Given the description of an element on the screen output the (x, y) to click on. 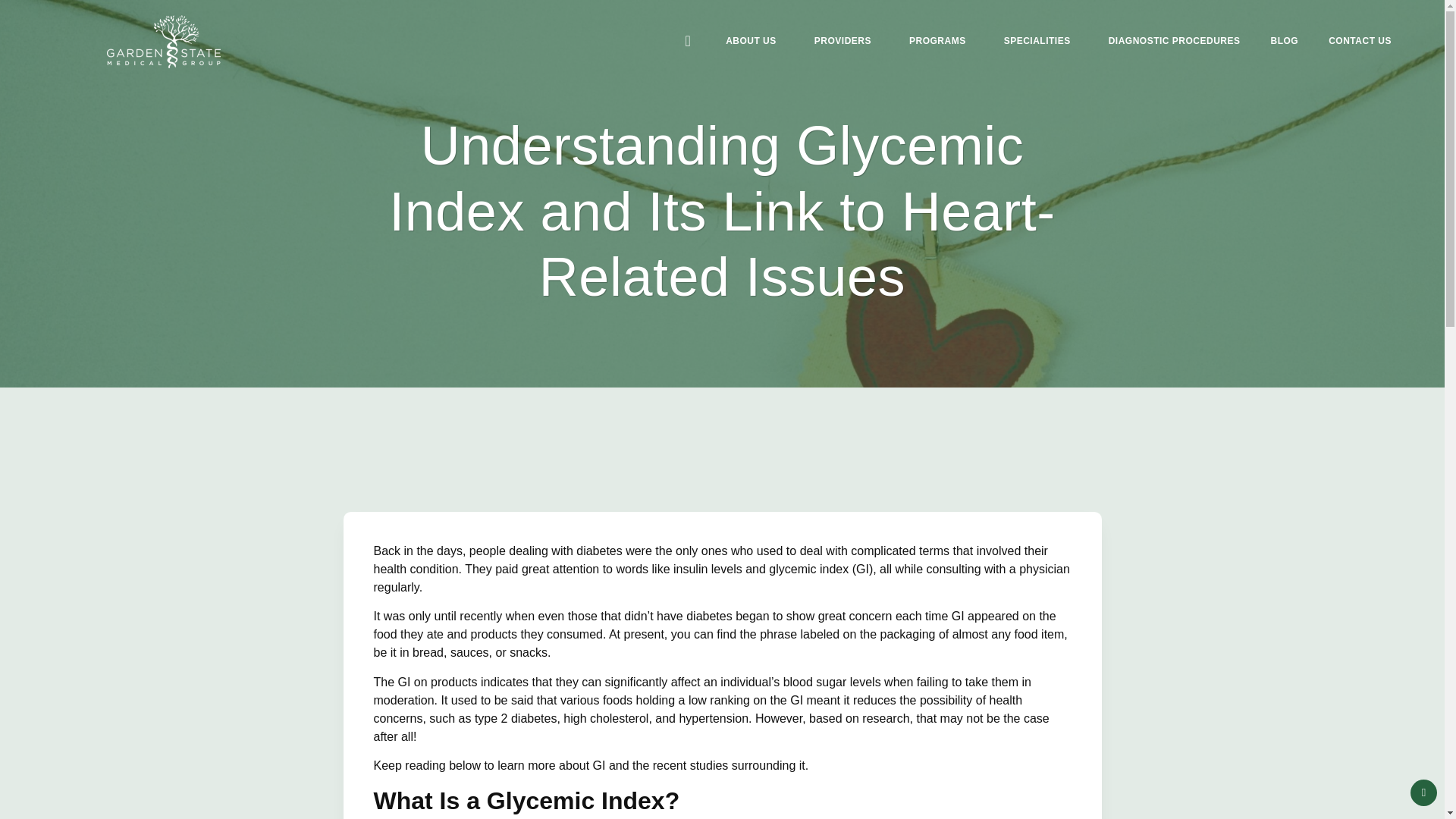
PROGRAMS (940, 6)
DIAGNOSTIC PROCEDURES (1174, 28)
SPECIALITIES (1040, 20)
BLOG (1284, 29)
CONTACT US (1359, 29)
